Given the description of an element on the screen output the (x, y) to click on. 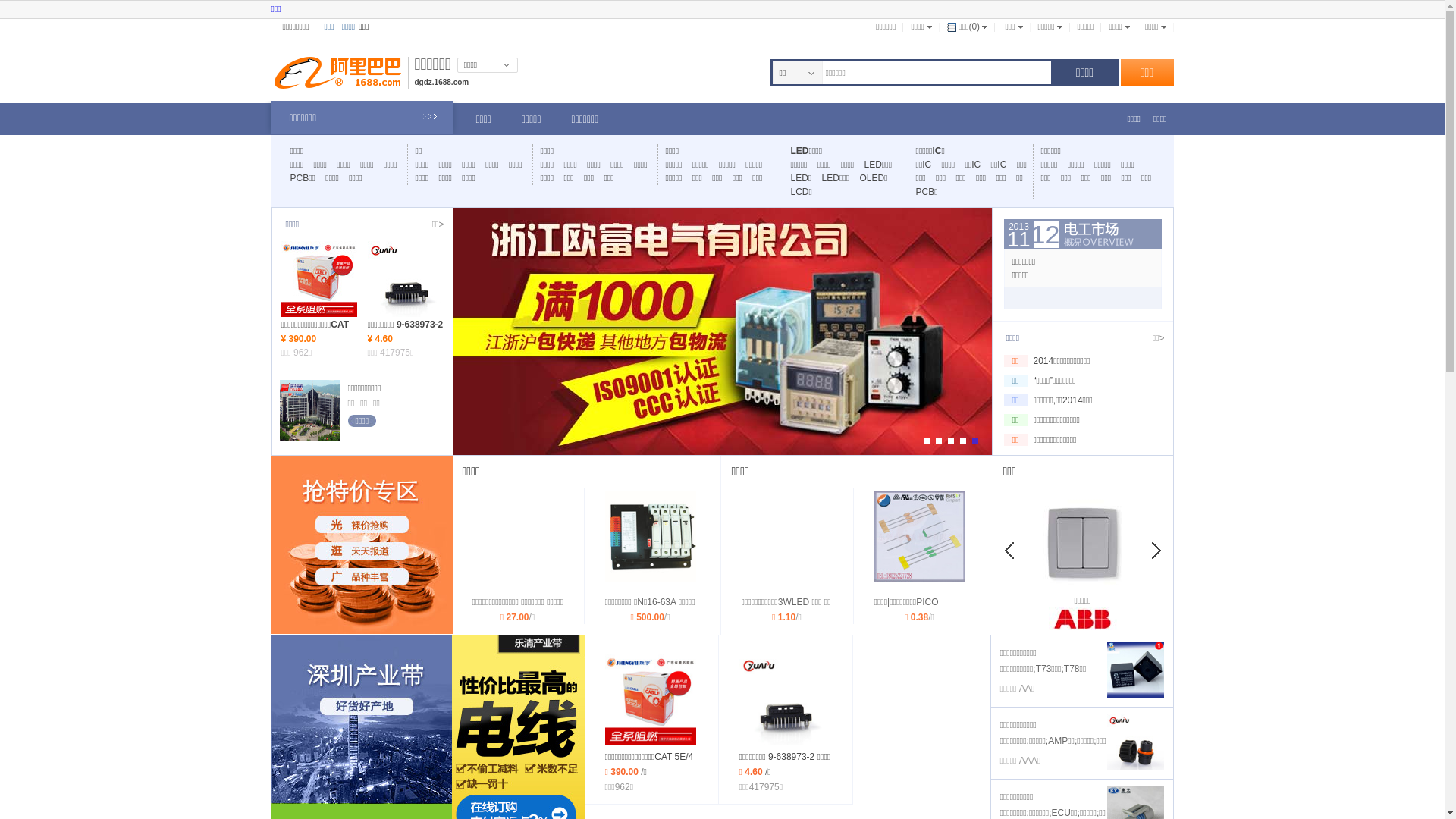
dgdz.1688.com Element type: text (441, 82)
